Given the description of an element on the screen output the (x, y) to click on. 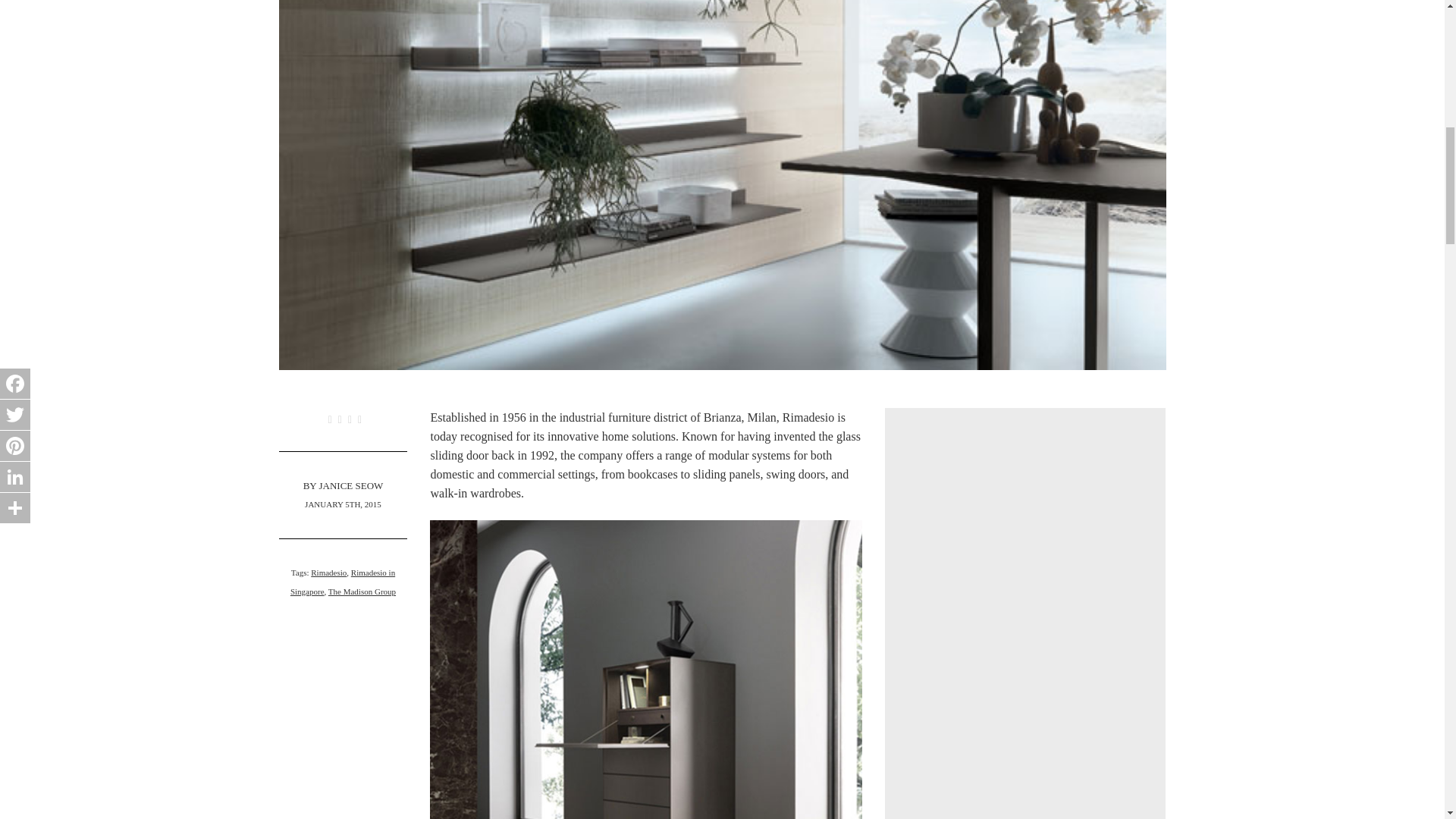
Posts by Janice Seow (350, 485)
